Given the description of an element on the screen output the (x, y) to click on. 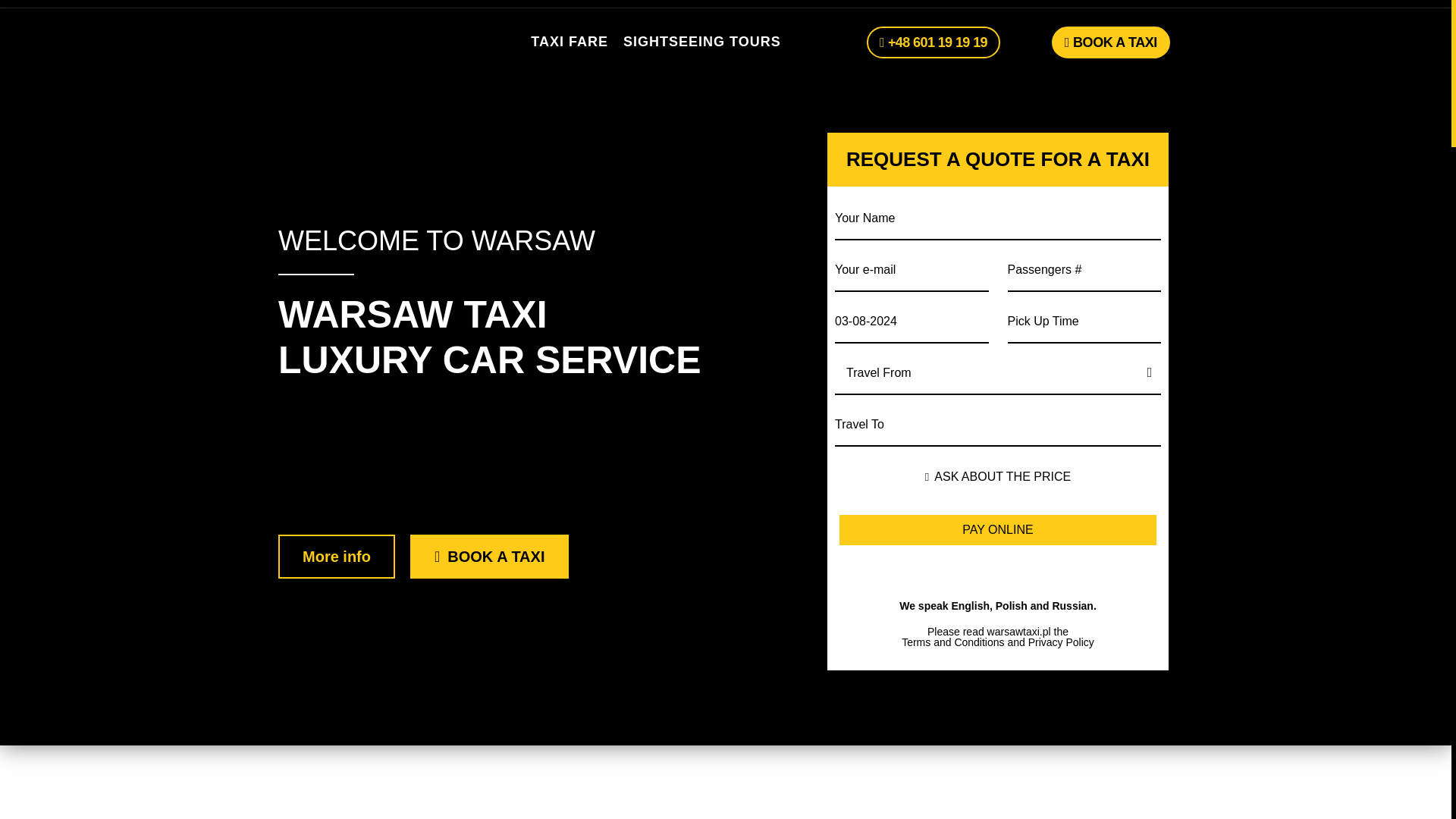
PAY ONLINE (998, 530)
TAXI FARE (569, 42)
Privacy Policy (1060, 642)
Terms and Conditions (952, 642)
BOOK A TAXI (1110, 42)
BOOK A TAXI (489, 556)
03-08-2024 (911, 320)
SIGHTSEEING TOURS (701, 42)
More info (336, 556)
